Given the description of an element on the screen output the (x, y) to click on. 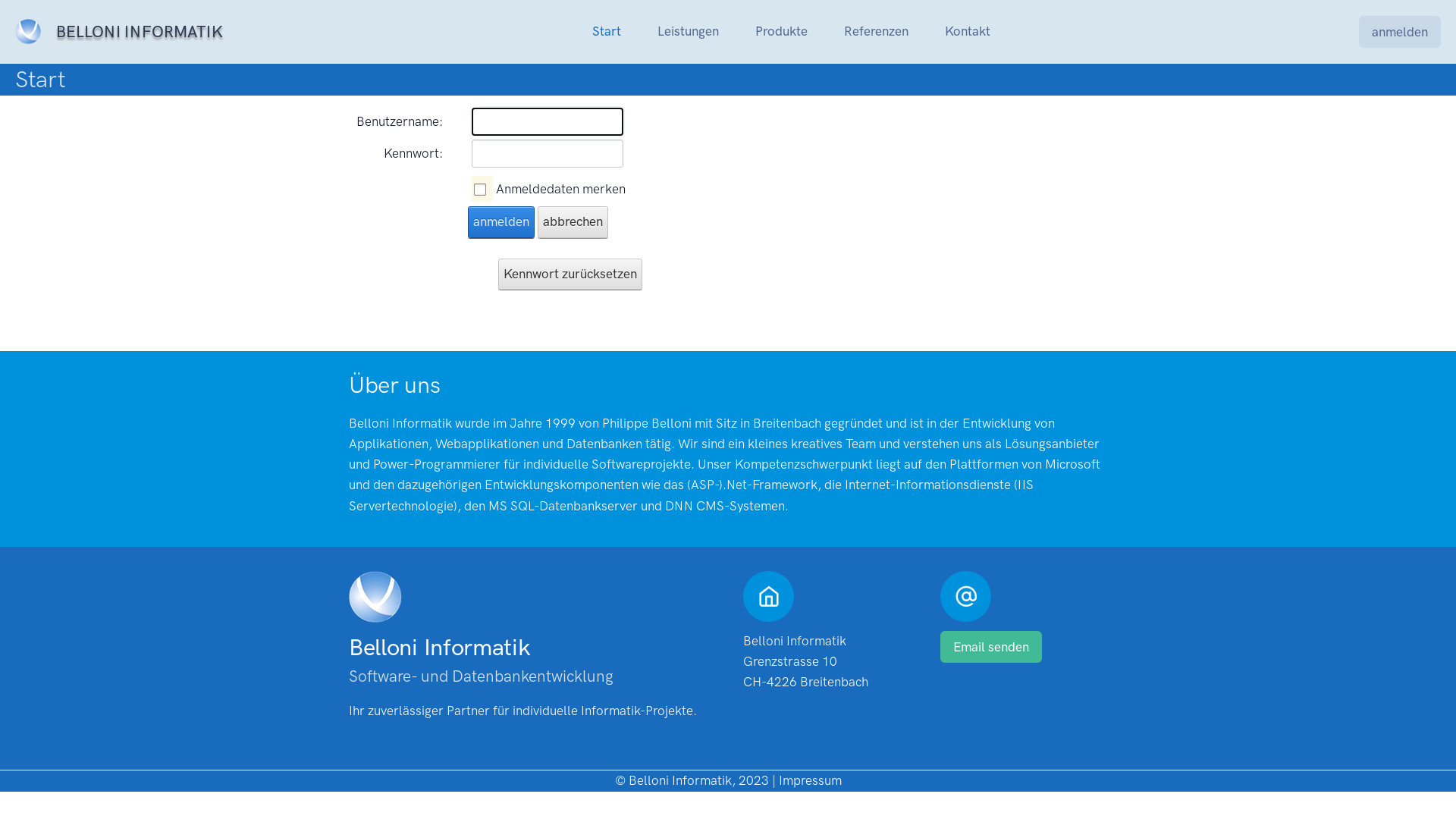
Start Element type: text (606, 31)
Impressum Element type: text (809, 779)
Belloni Informatik Element type: hover (35, 30)
Referenzen Element type: text (875, 31)
anmelden Element type: text (1399, 31)
Kontakt Element type: text (967, 31)
abbrechen Element type: text (572, 221)
anmelden Element type: text (500, 221)
Leistungen Element type: text (688, 31)
Produkte Element type: text (781, 31)
Email senden Element type: text (990, 646)
